Given the description of an element on the screen output the (x, y) to click on. 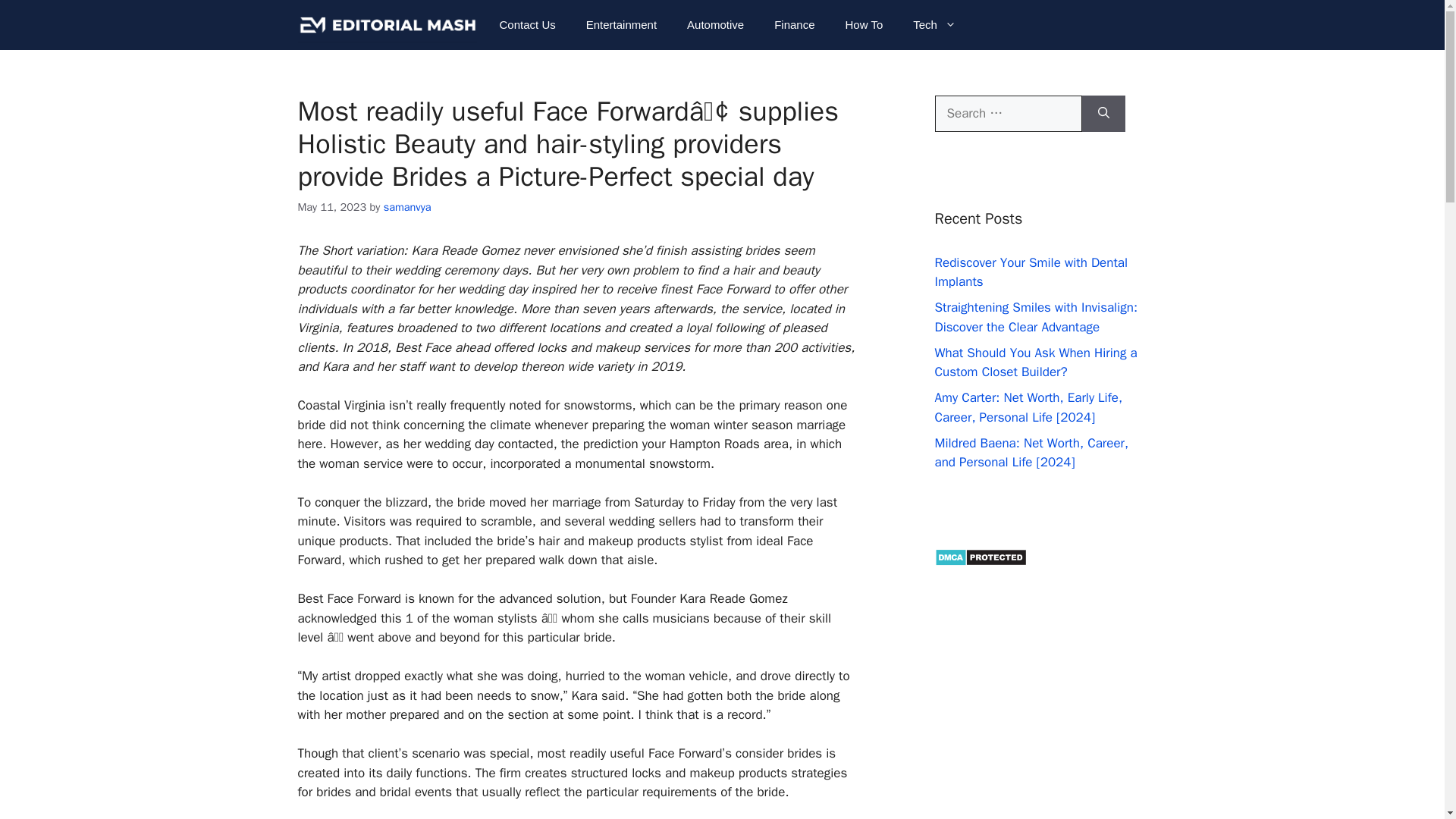
Search for: (1007, 113)
Contact Us (527, 24)
DMCA.com Protection Status (980, 561)
Tech (934, 24)
View all posts by samanvya (407, 206)
Automotive (714, 24)
samanvya (407, 206)
What Should You Ask When Hiring a Custom Closet Builder? (1035, 361)
Rediscover Your Smile with Dental Implants (1030, 272)
Entertainment (620, 24)
